Given the description of an element on the screen output the (x, y) to click on. 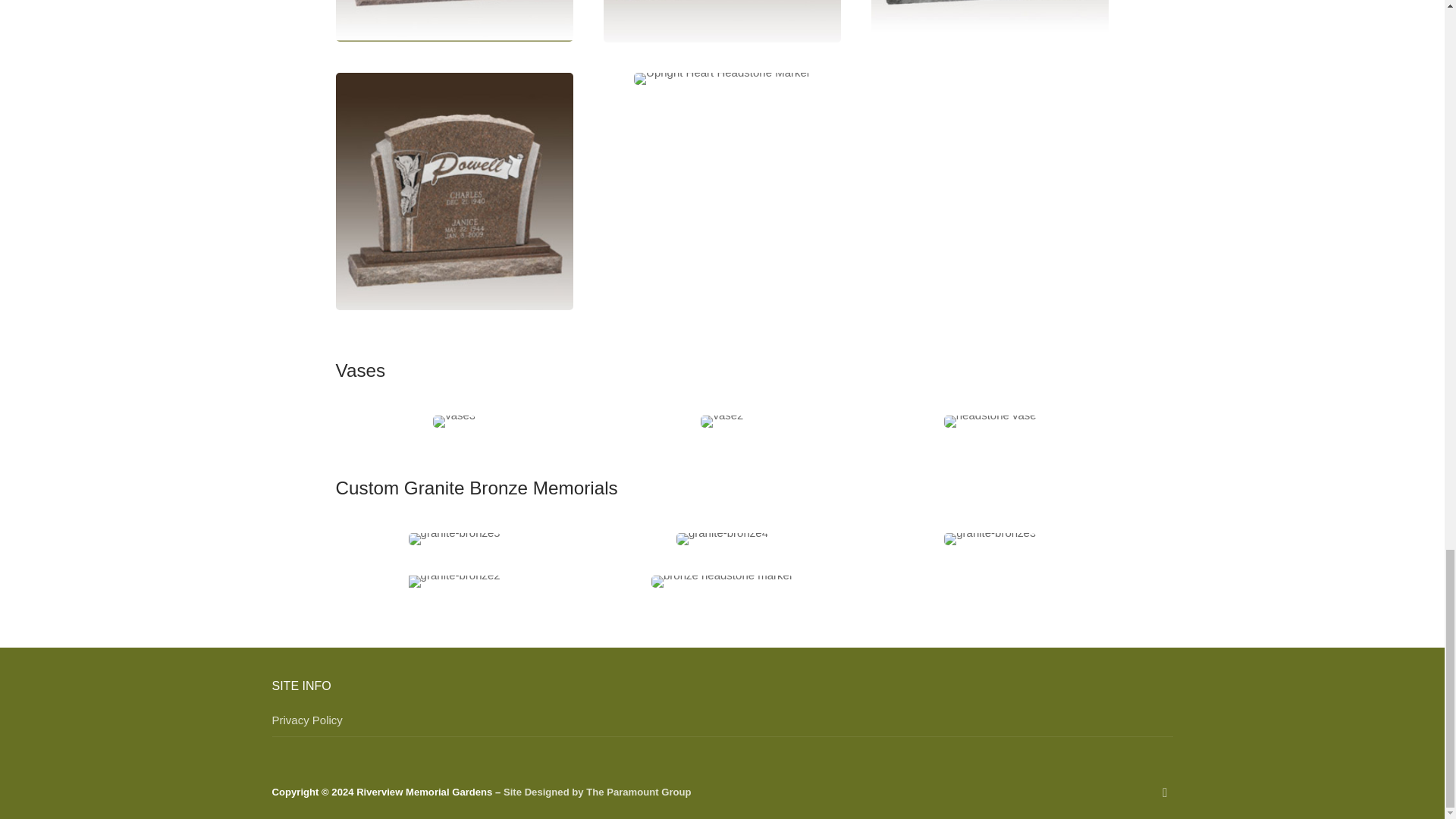
vase3 (454, 421)
Upright Heart Headstone Marker (721, 78)
granite-bronze4 (722, 539)
vase2 (721, 421)
headstone vase (989, 421)
Upright Headstone Marker (453, 190)
granite-bronze5 (454, 539)
Site Designed by The Paramount Group (597, 791)
Upright Headstone Marker (722, 21)
Upright Headstone Marker (453, 20)
